Given the description of an element on the screen output the (x, y) to click on. 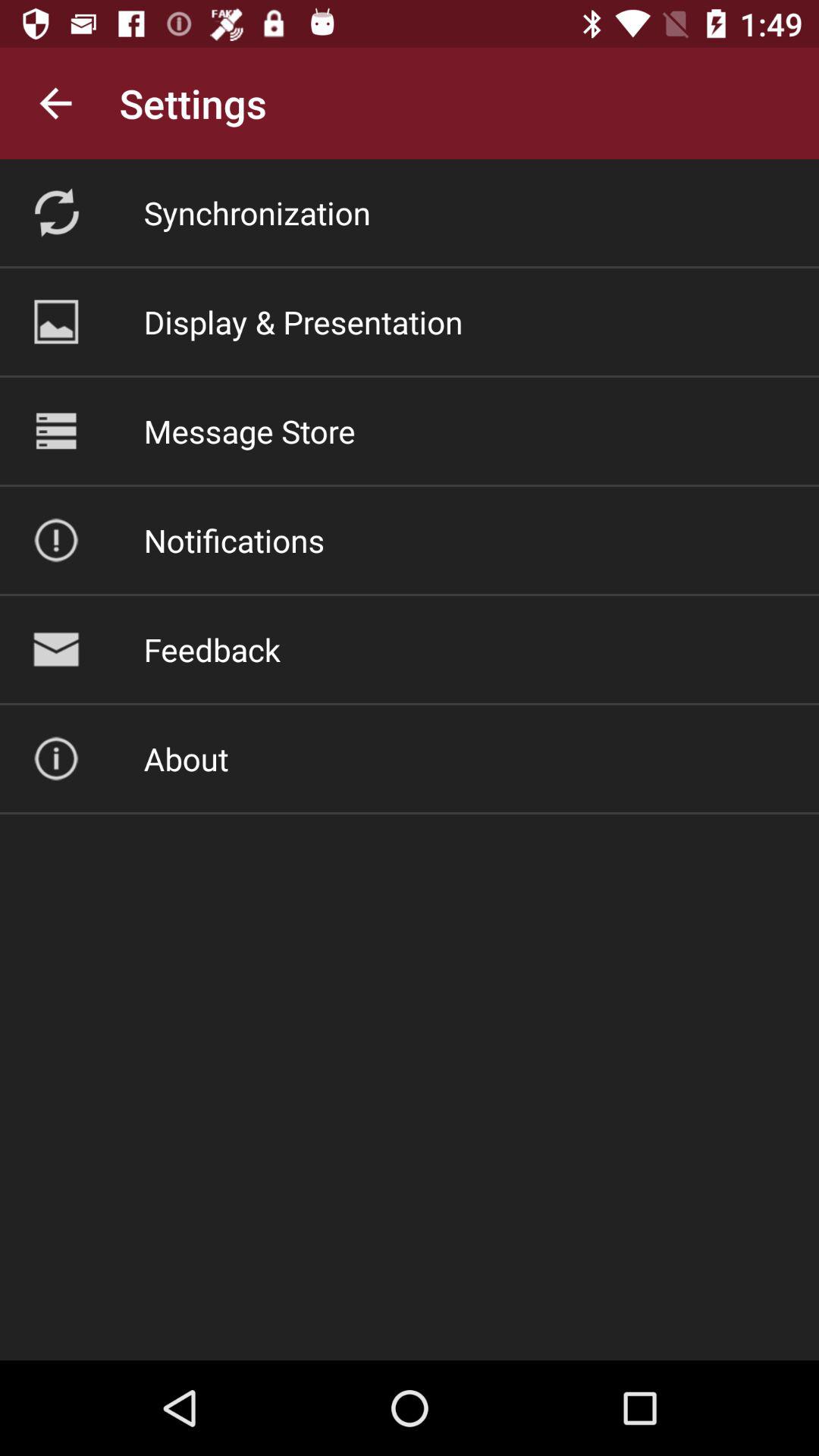
turn off message store icon (249, 430)
